Given the description of an element on the screen output the (x, y) to click on. 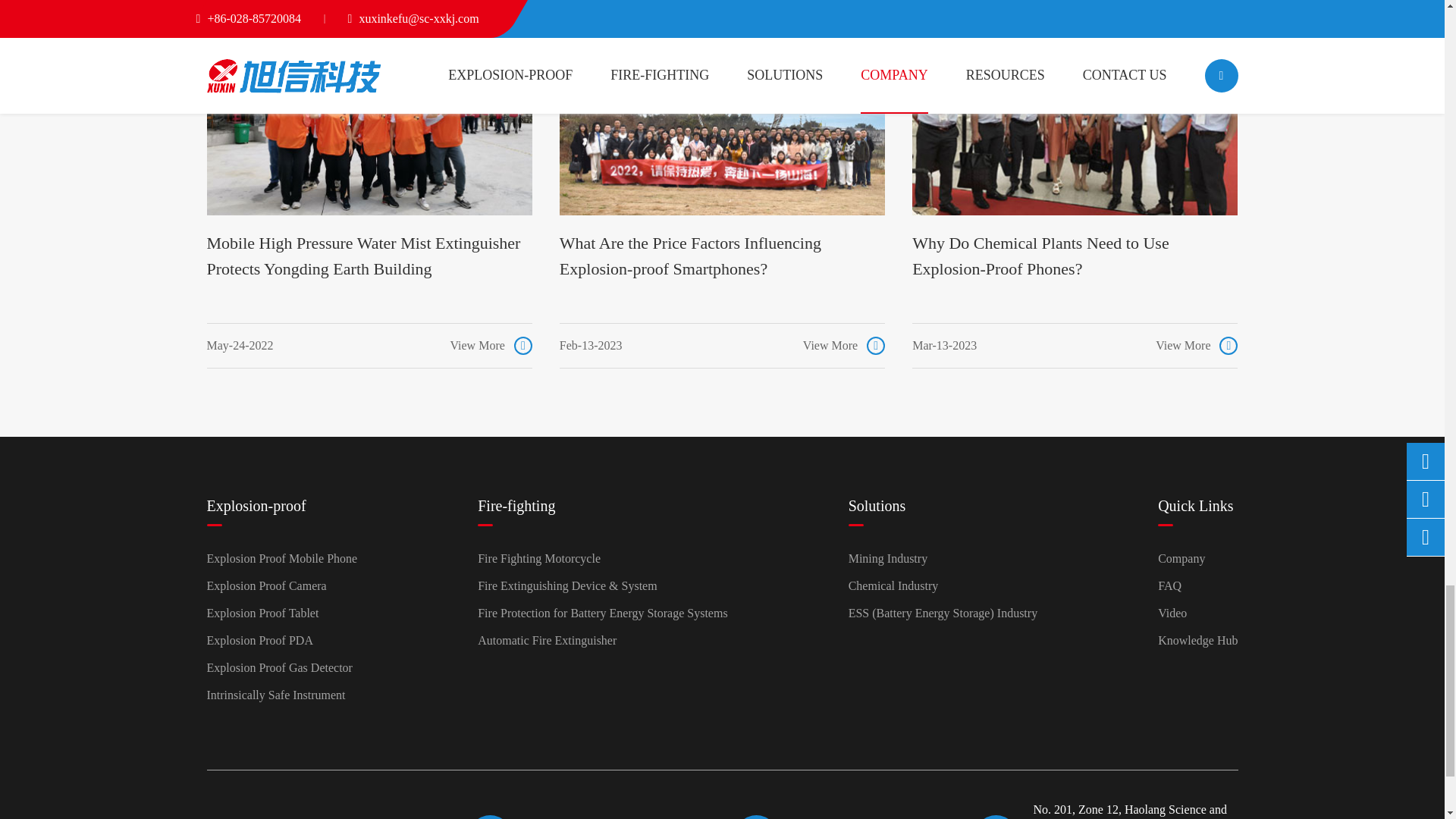
Why Do Chemical Plants Need to Use Explosion-Proof Phones? (1074, 108)
